Given the description of an element on the screen output the (x, y) to click on. 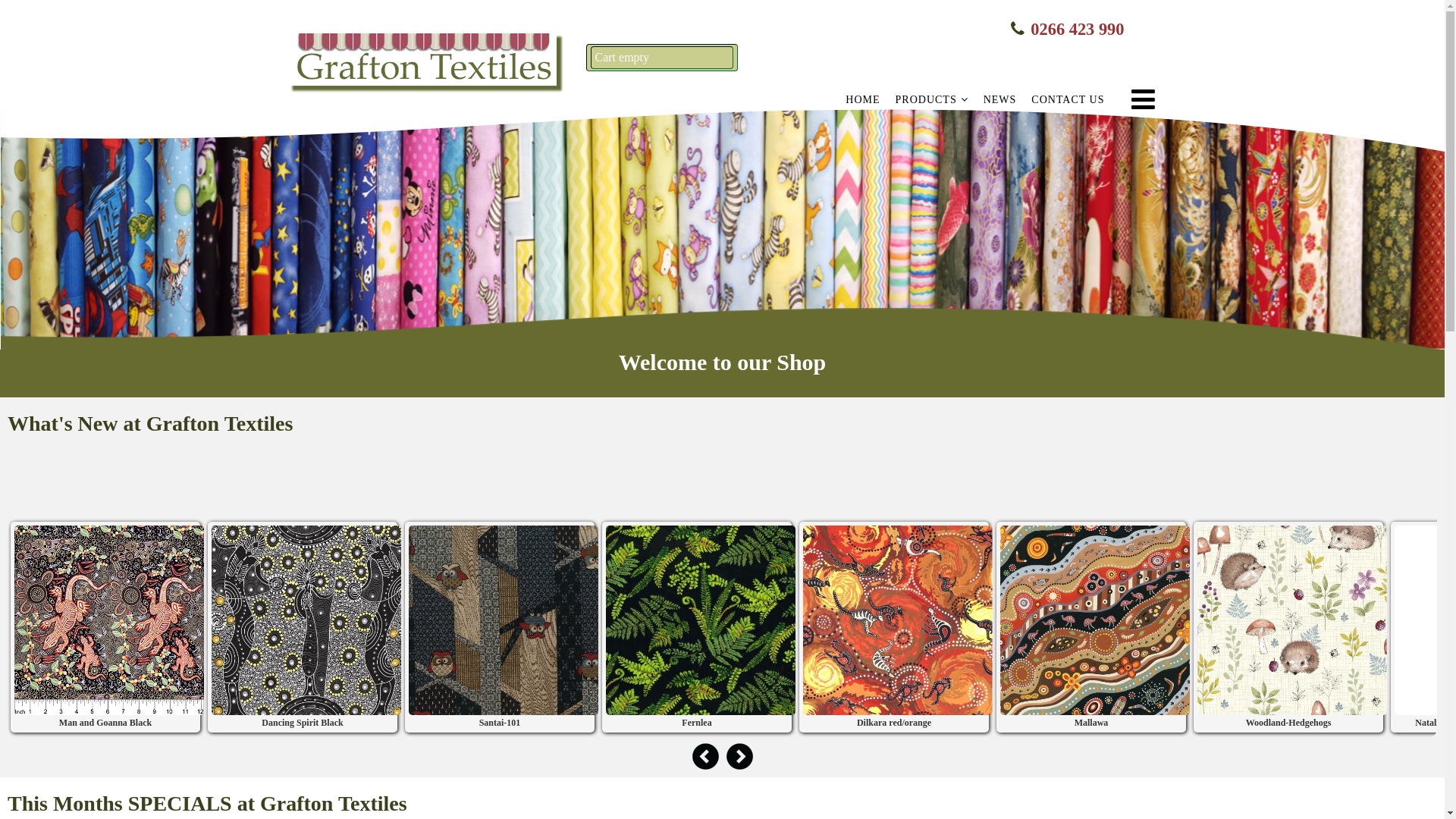
PRODUCTS Element type: text (931, 100)
CONTACT US Element type: text (1067, 101)
Man and Goanna Black Element type: hover (108, 620)
Helix Megamenu Options Element type: hover (1138, 98)
Mallawa Element type: hover (1091, 620)
Man and Goanna Black Element type: hover (105, 620)
Dancing Spirit Black Element type: hover (302, 620)
Dilkara red/orange Element type: hover (894, 620)
HOME Element type: text (862, 101)
Dilkara red/orange Element type: hover (897, 620)
NEWS Element type: text (999, 101)
Santai-101 Element type: hover (499, 620)
Fernlea Element type: hover (700, 620)
Dancing Spirit Black Element type: hover (306, 620)
Woodland-Hedgehogs Element type: hover (1288, 620)
Mallawa Element type: hover (1094, 620)
0266 423 990 Element type: text (1076, 28)
Woodland-Hedgehogs Element type: hover (1291, 620)
Santai-101 Element type: hover (503, 620)
Fernlea Element type: hover (696, 620)
